Given the description of an element on the screen output the (x, y) to click on. 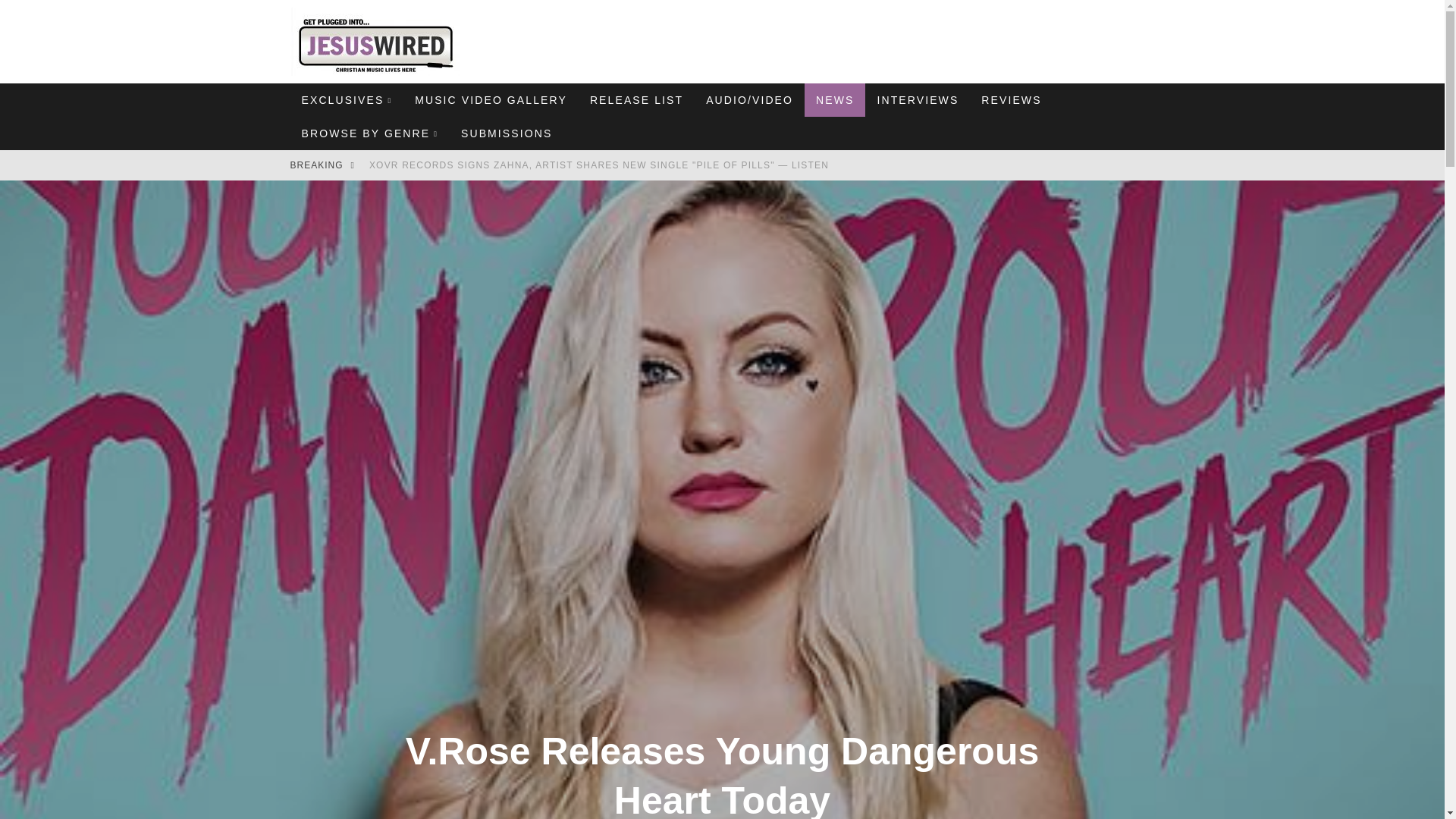
MUSIC VIDEO GALLERY (490, 100)
EXCLUSIVES (346, 100)
RELEASE LIST (636, 100)
